Given the description of an element on the screen output the (x, y) to click on. 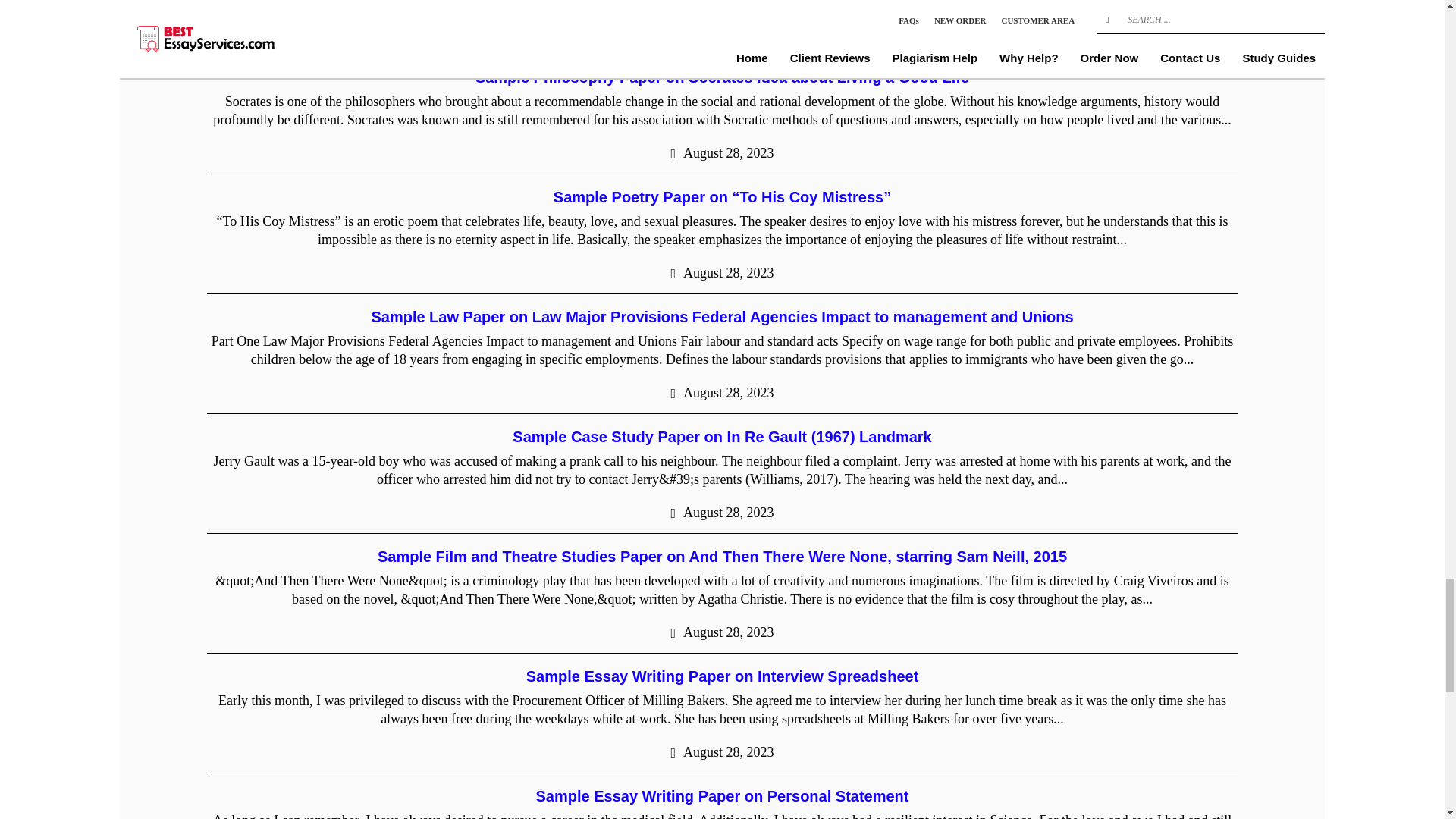
Sample Essay Writing Paper on Interview Spreadsheet (721, 676)
